Given the description of an element on the screen output the (x, y) to click on. 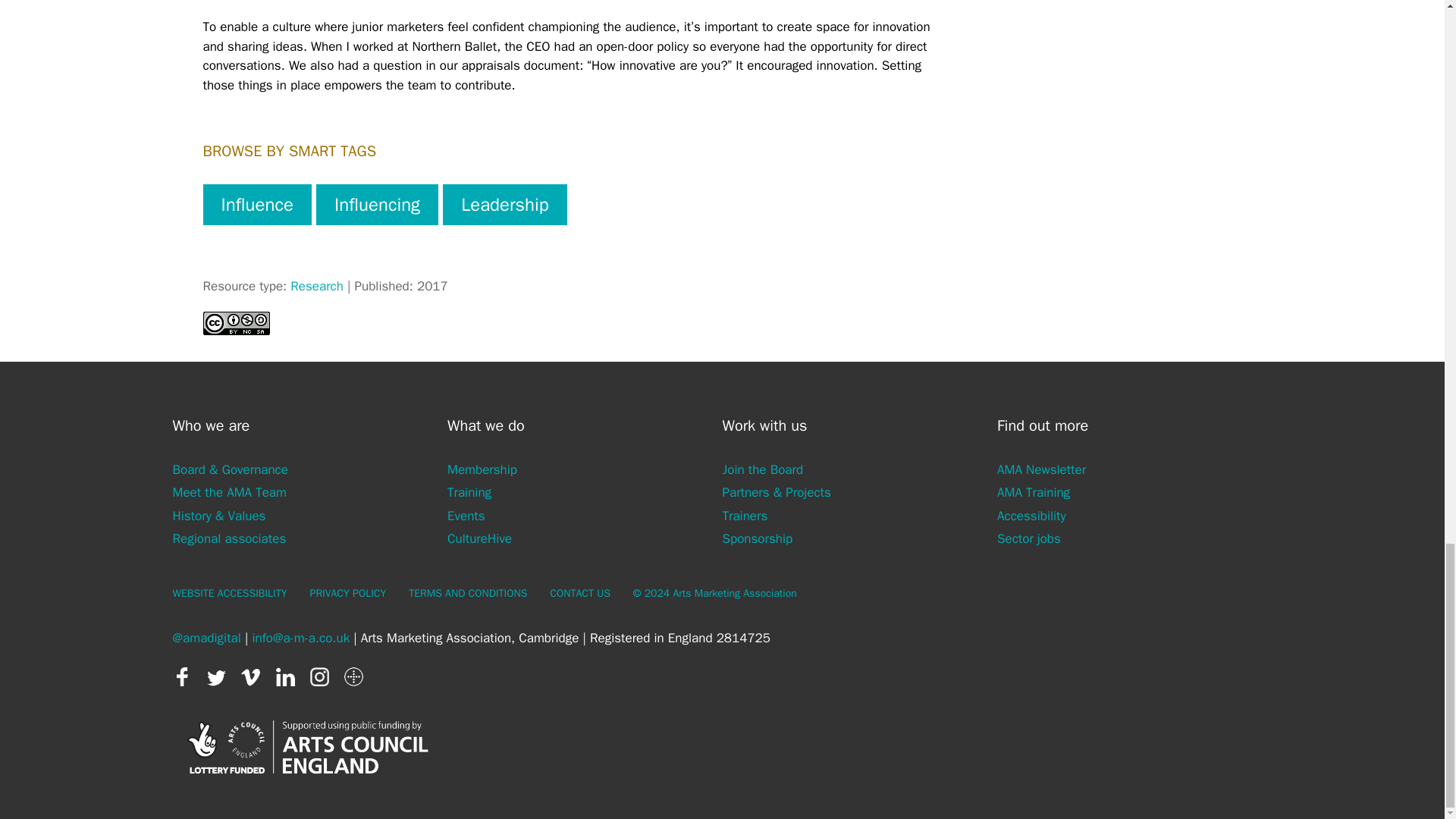
Trainers (744, 514)
Membership (481, 469)
CultureHive (479, 538)
Join the Board (762, 469)
Influence (257, 204)
Meet the AMA Team (229, 492)
Training (469, 492)
AMA Training (1033, 492)
Sponsorship (757, 538)
Leadership (504, 204)
AMA Newsletter (1041, 469)
Events (465, 514)
Research (316, 286)
Regional associates (229, 538)
Influencing (376, 204)
